Given the description of an element on the screen output the (x, y) to click on. 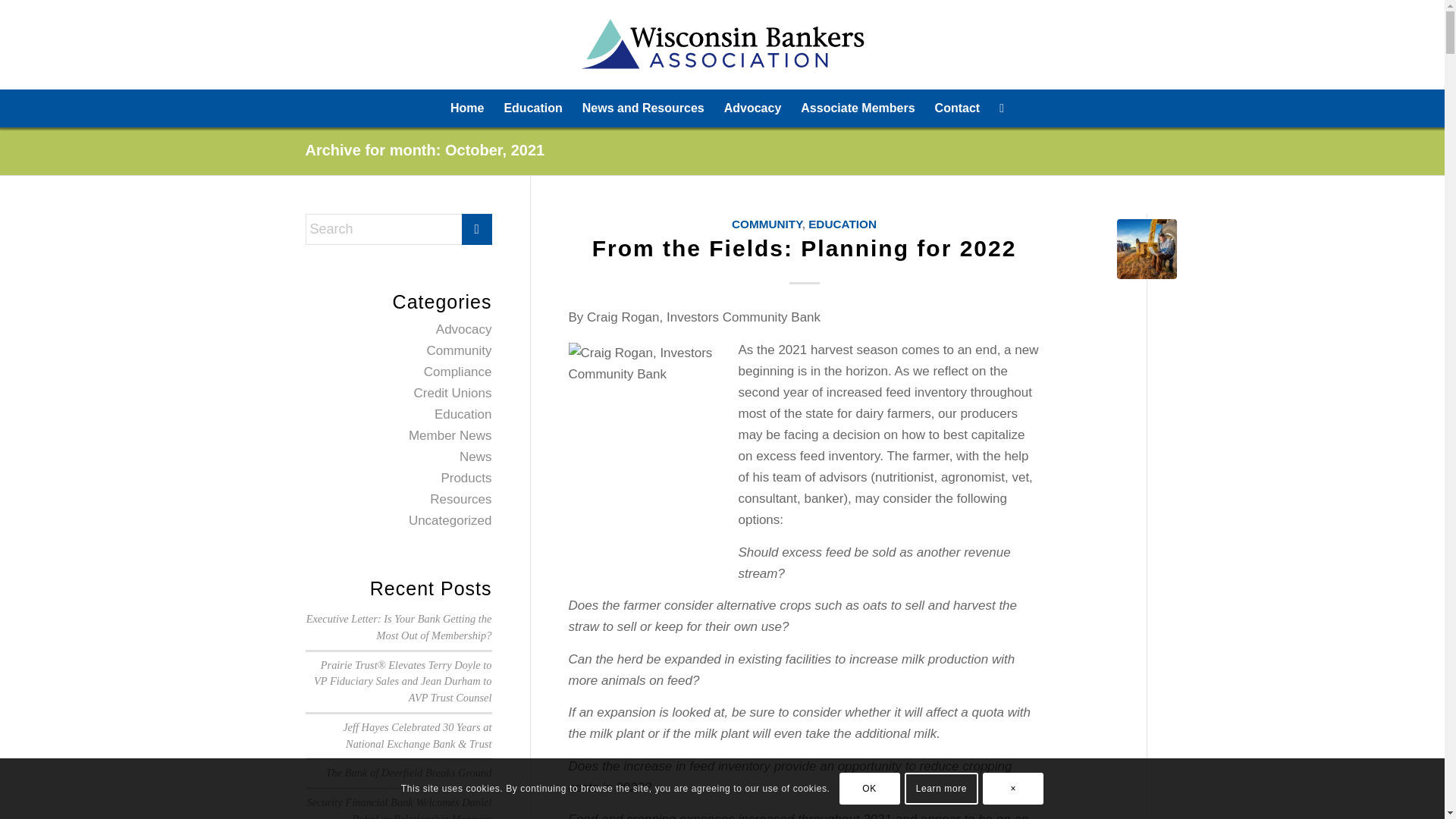
Wisconsin Banking Industry Vendors (857, 108)
Home (467, 108)
Education (532, 108)
COMMUNITY (767, 223)
Wisconsin Bankers Association (467, 108)
From the Fields: Planning for 2022 (804, 248)
Banking Industry Education (532, 108)
Contact Wisconsin Banking Industry (957, 108)
Banking News and Resources (643, 108)
Associate Members (857, 108)
Wisconsin-Bankers-Association-logo (722, 44)
EDUCATION (842, 223)
Wisconsin Bank Industry Advocacy (753, 108)
Wisconsin-Bankers-Association-logo (722, 44)
Permanent Link: From the Fields: Planning for 2022 (804, 248)
